Given the description of an element on the screen output the (x, y) to click on. 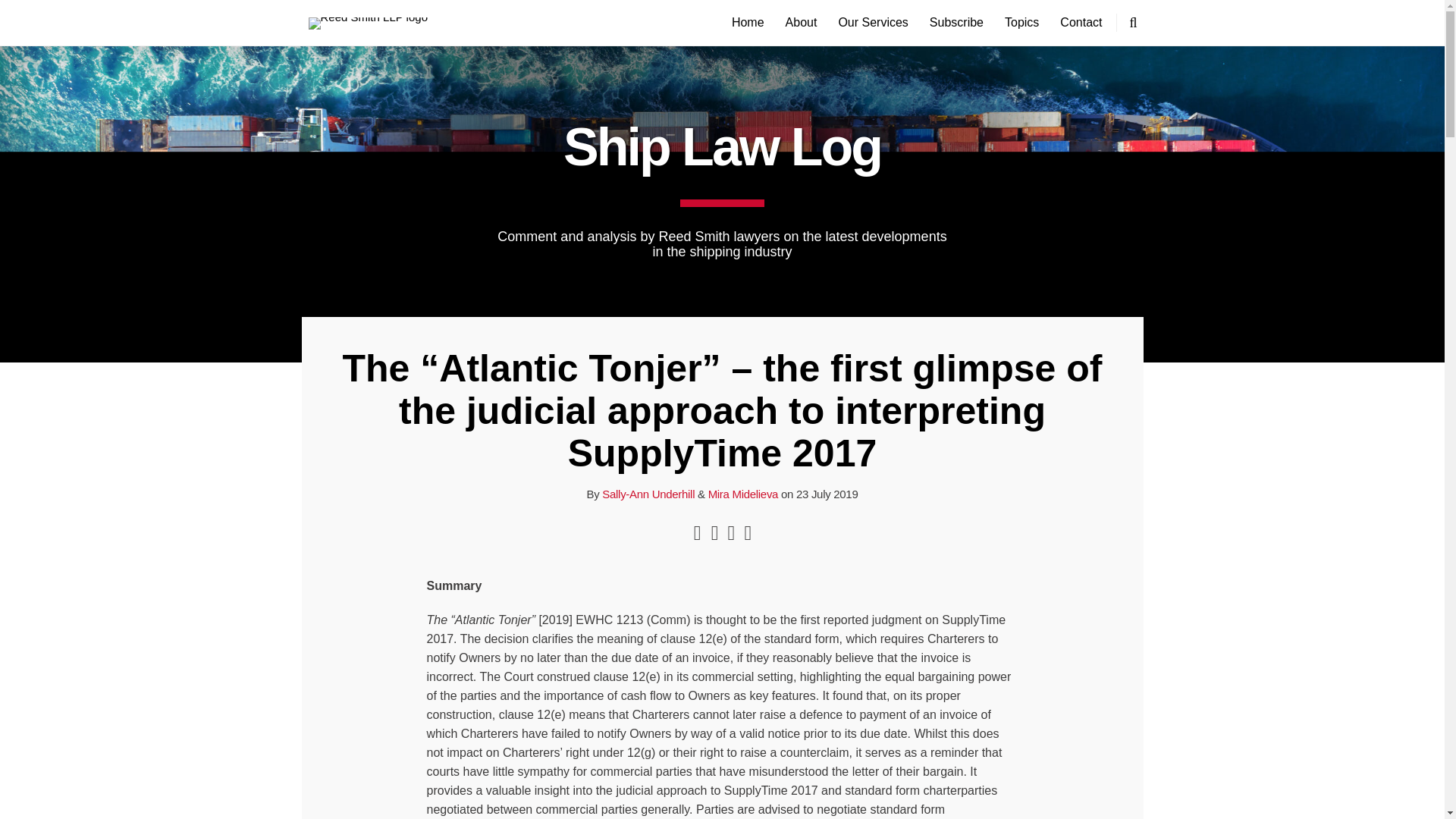
Home (748, 22)
Ship Law Log (721, 146)
Contact (1080, 22)
Our Services (872, 22)
Subscribe (957, 22)
Mira Midelieva (742, 493)
Topics (1021, 22)
Sally-Ann Underhill (648, 493)
About (801, 22)
